Given the description of an element on the screen output the (x, y) to click on. 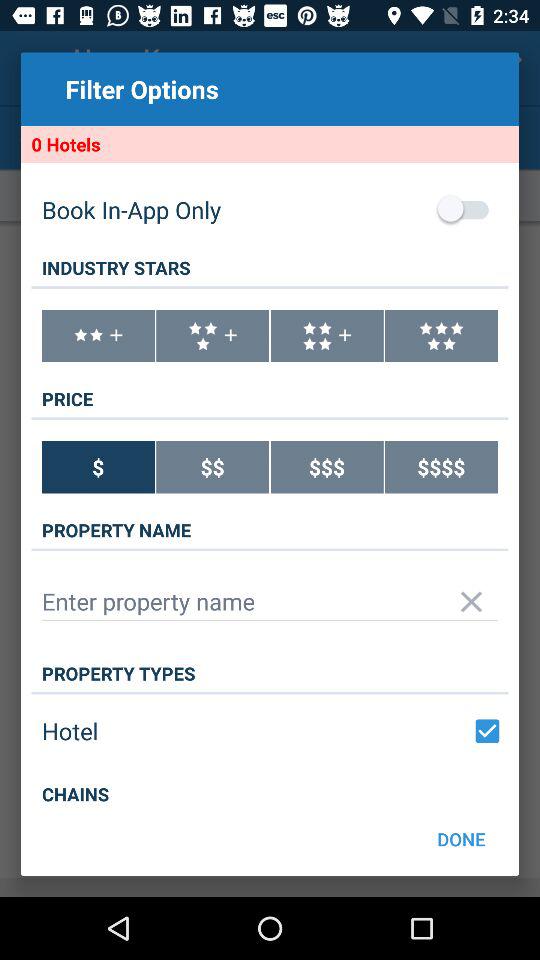
select two stars rating (98, 335)
